Given the description of an element on the screen output the (x, y) to click on. 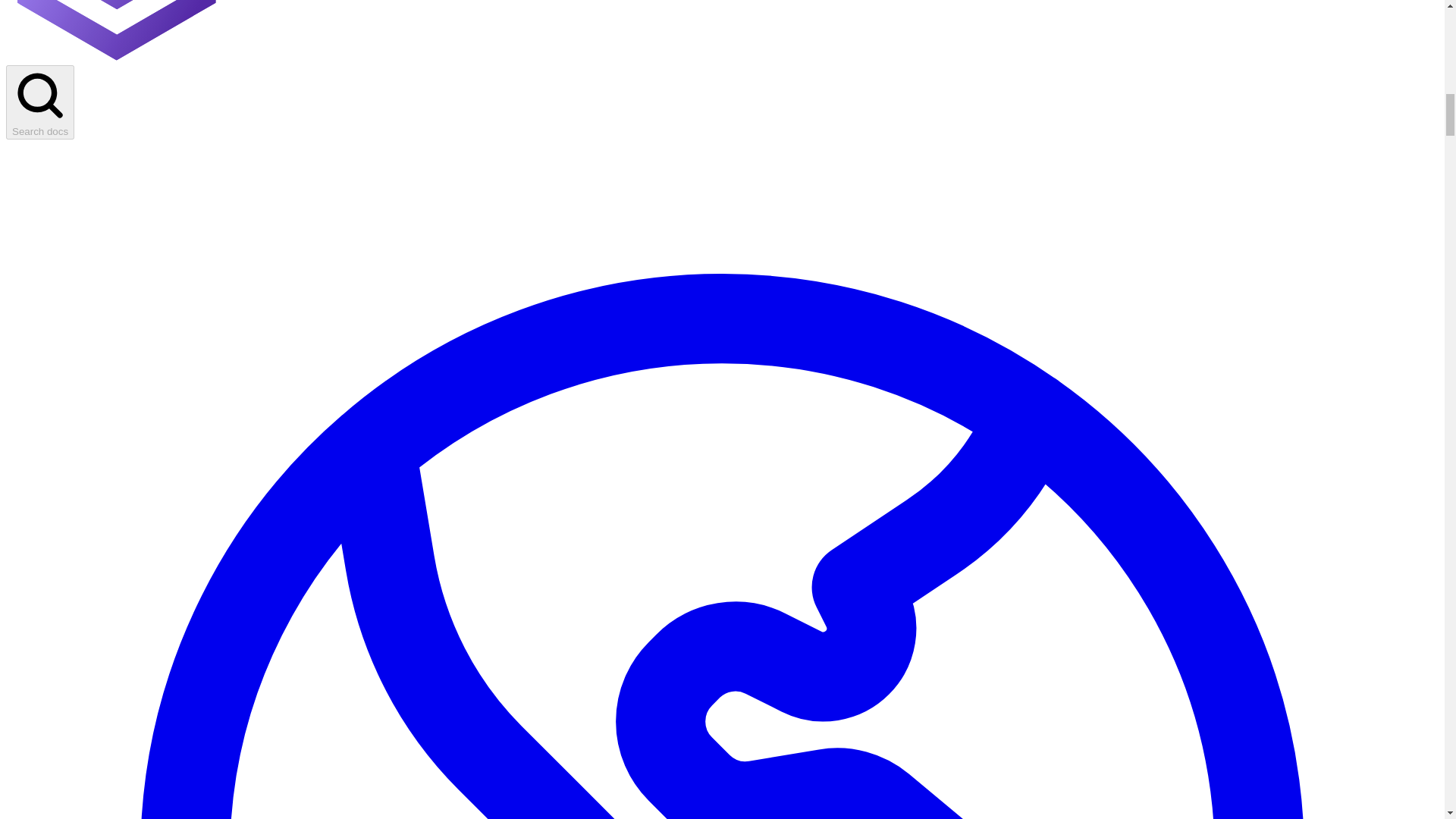
Search docs (39, 102)
